Given the description of an element on the screen output the (x, y) to click on. 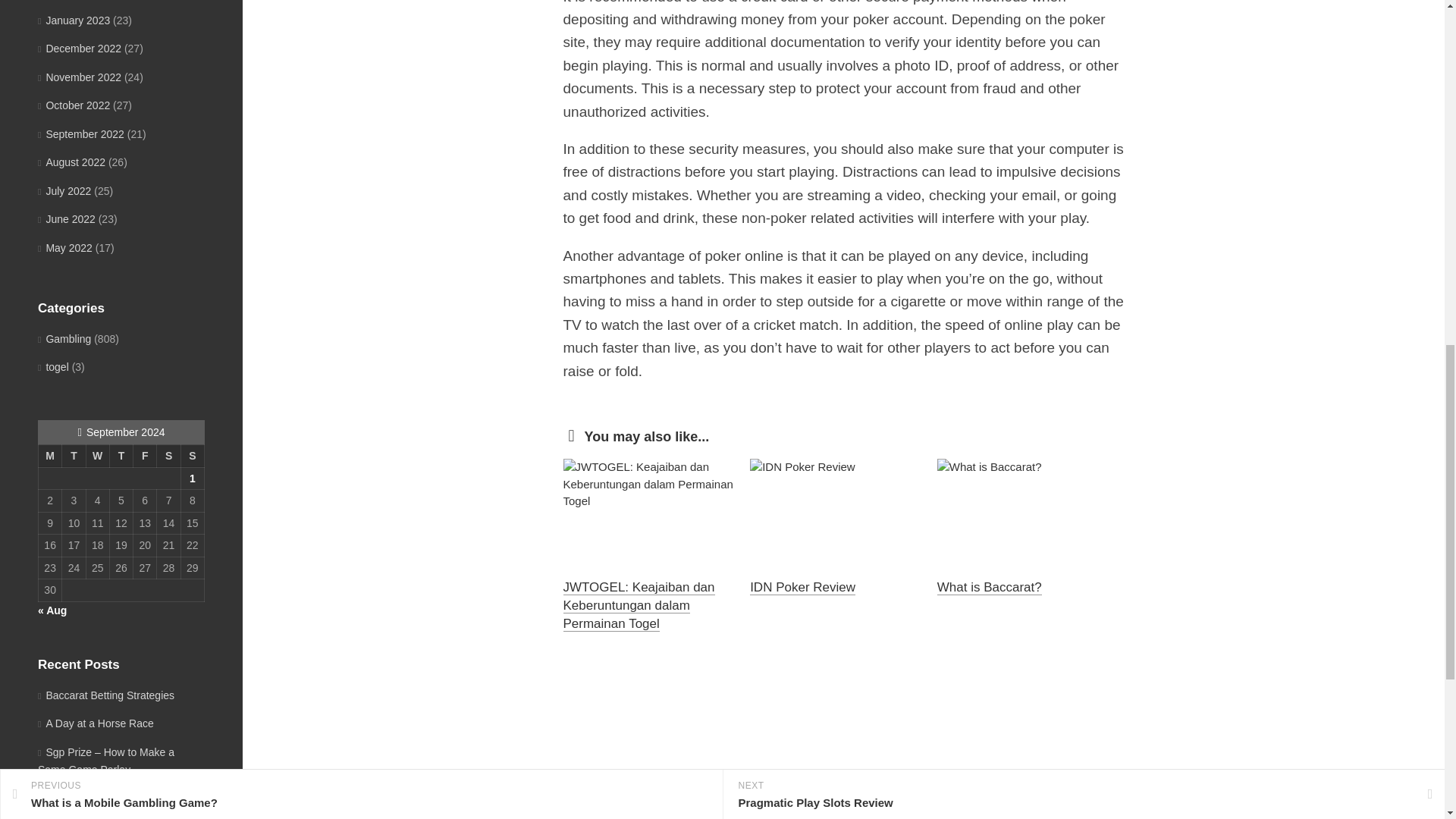
Thursday (120, 455)
JWTOGEL: Keajaiban dan Keberuntungan dalam Permainan Togel (638, 604)
Sunday (191, 455)
October 2022 (73, 105)
Tuesday (73, 455)
Friday (145, 455)
November 2022 (78, 77)
Wednesday (97, 455)
What is Baccarat? (989, 586)
December 2022 (78, 48)
